Given the description of an element on the screen output the (x, y) to click on. 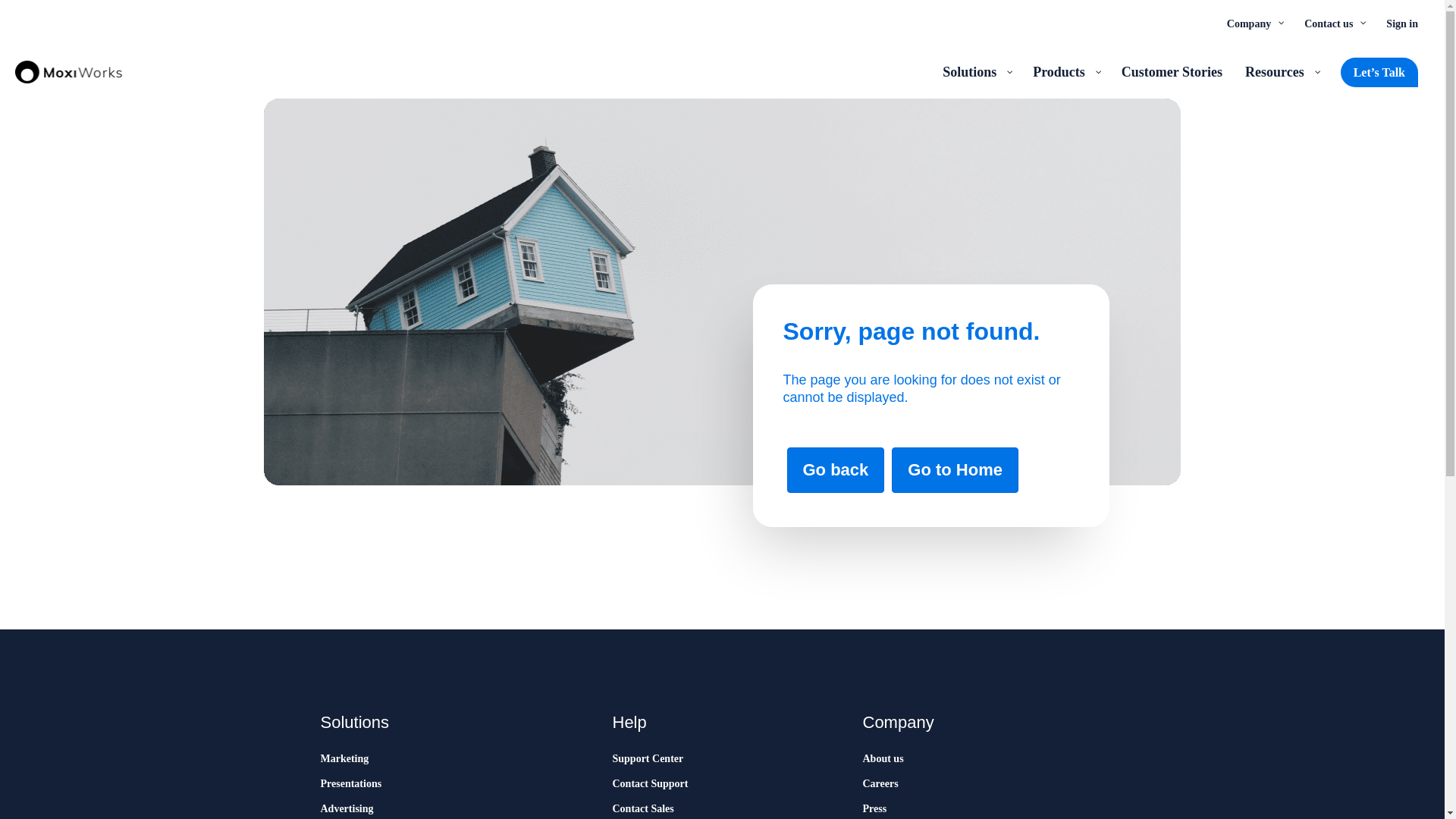
Products (1065, 72)
Sign in (1401, 22)
Contact us (1333, 22)
Solutions (976, 72)
Company (1253, 22)
